Given the description of an element on the screen output the (x, y) to click on. 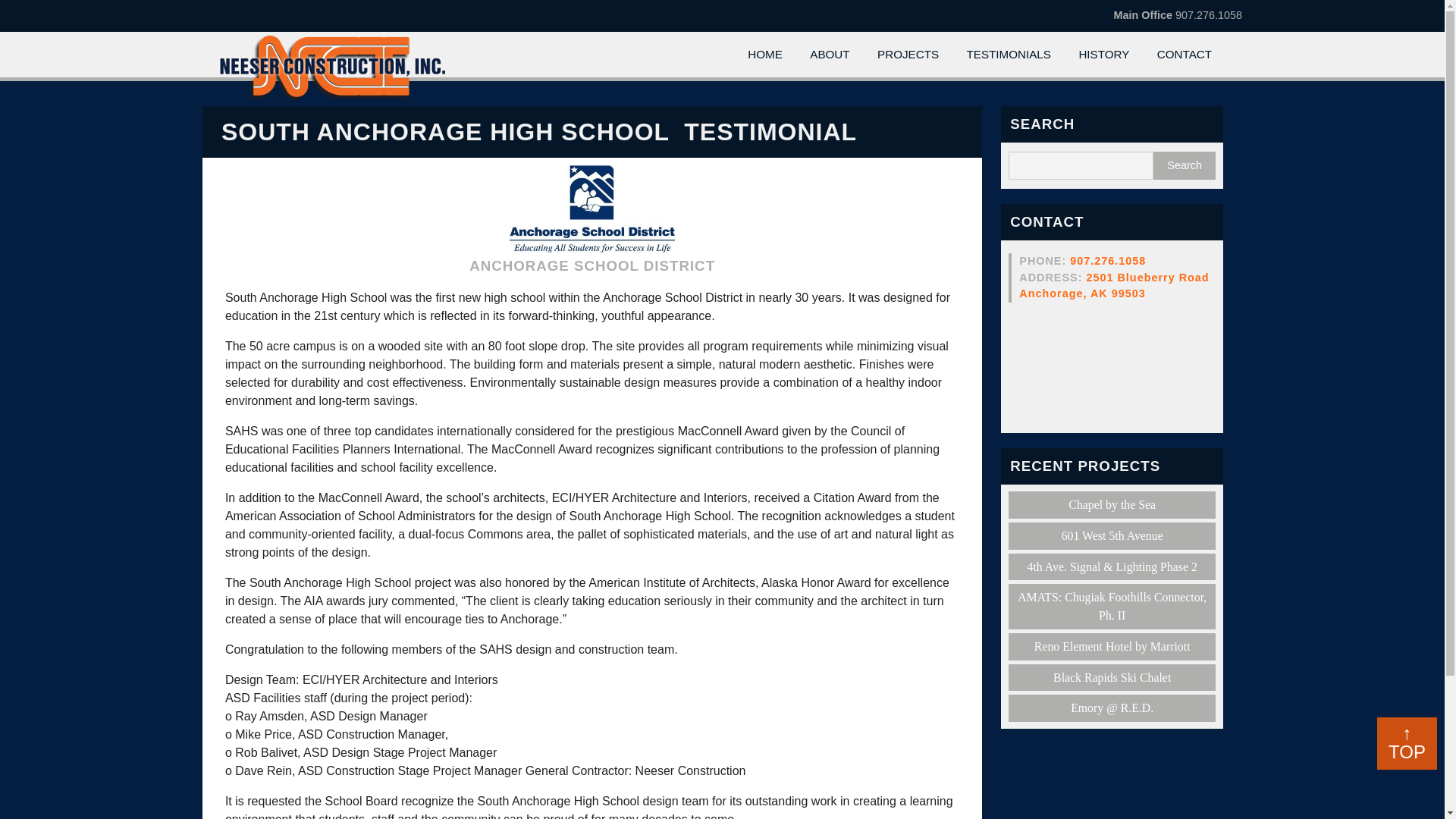
Chapel by the Sea (1113, 285)
Search (1112, 504)
PROJECTS (1184, 165)
Black Rapids Ski Chalet (907, 54)
907.276.1058 (1112, 677)
ABOUT (1107, 260)
Reno Element Hotel by Marriott (829, 54)
HOME (1112, 646)
CONTACT (764, 54)
601 West 5th Avenue (1184, 54)
Main Office 907.276.1058 (1112, 535)
Search (1177, 15)
TESTIMONIALS (1184, 165)
HISTORY (1008, 54)
